Given the description of an element on the screen output the (x, y) to click on. 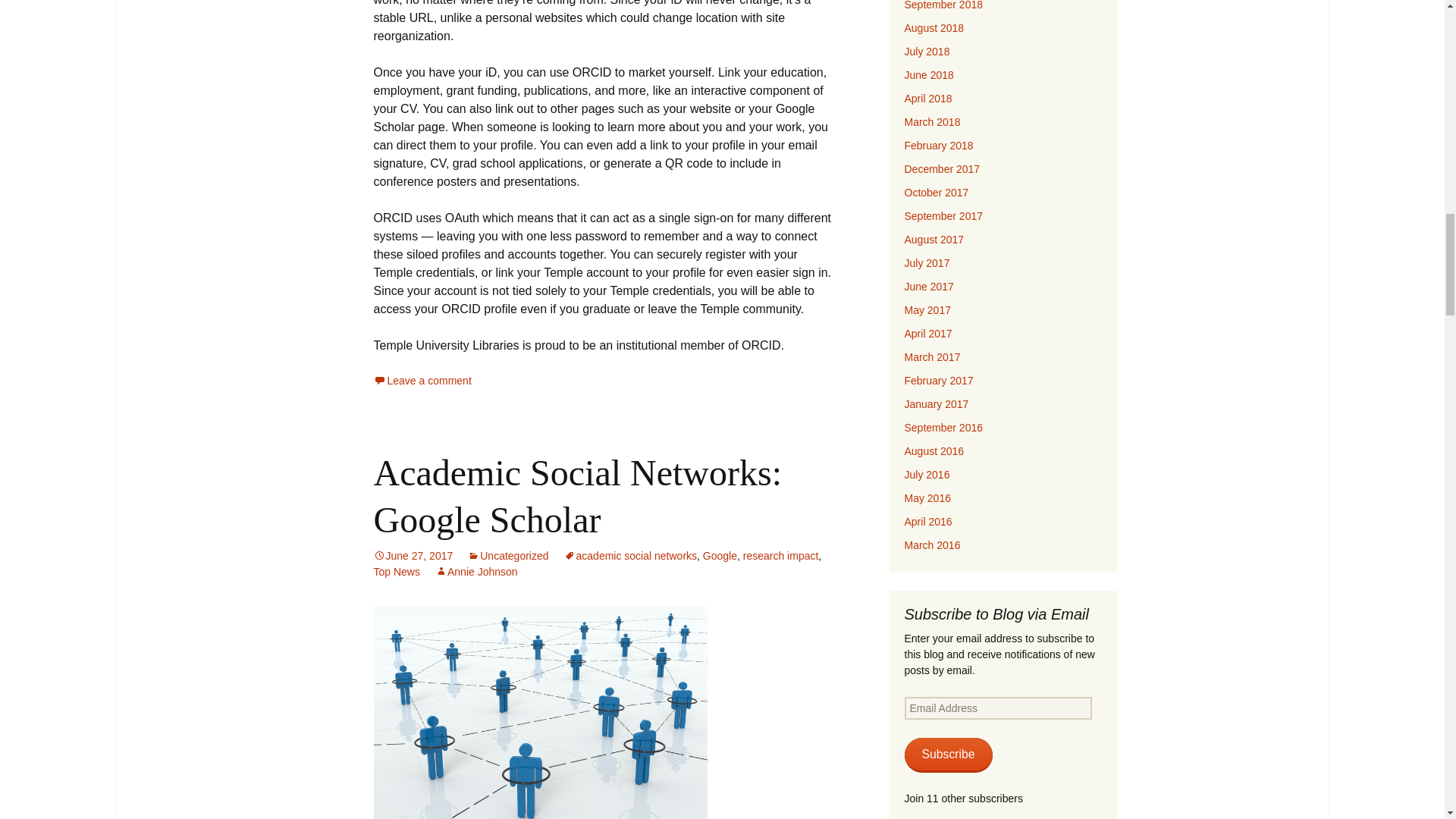
Top News (395, 571)
Academic Social Networks: Google Scholar (576, 495)
Annie Johnson (476, 571)
research impact (780, 555)
Permalink to Academic Social Networks: Google Scholar (412, 555)
Leave a comment (421, 380)
Uncategorized (507, 555)
Google (719, 555)
academic social networks (630, 555)
June 27, 2017 (412, 555)
View all posts by Annie Johnson (476, 571)
